Given the description of an element on the screen output the (x, y) to click on. 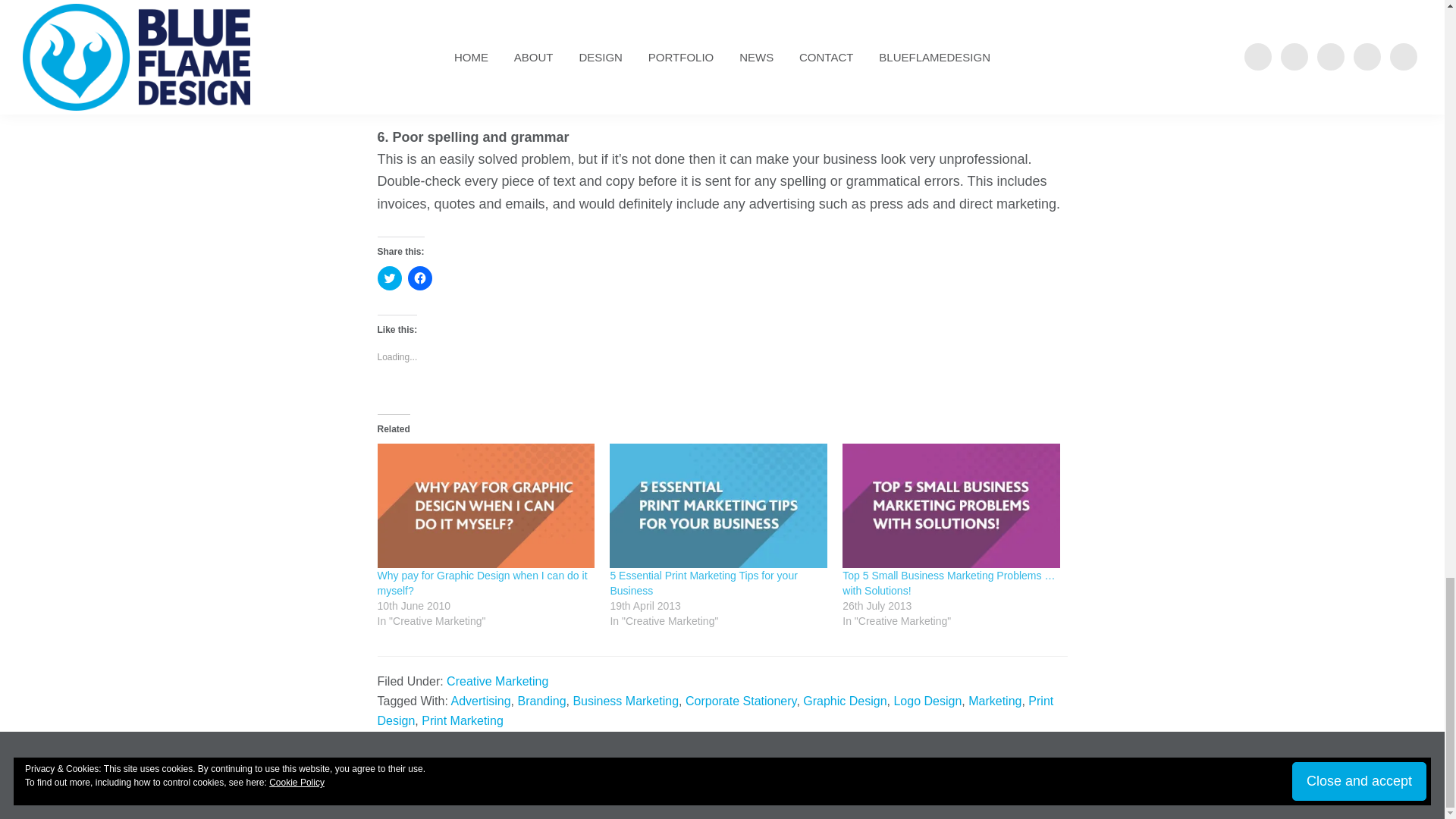
Creative Marketing (497, 680)
Why pay for Graphic Design when I can do it myself? (482, 583)
Graphic Design (844, 700)
Corporate Stationery (740, 700)
branding (530, 93)
Advertising (480, 700)
Click to share on Twitter (389, 278)
Click to share on Facebook (419, 278)
Branding (541, 700)
Business Marketing (625, 700)
5 Essential Print Marketing Tips for your Business (718, 505)
design (476, 93)
Why pay for Graphic Design when I can do it myself? (482, 583)
5 Essential Print Marketing Tips for your Business (703, 583)
5 Essential Print Marketing Tips for your Business (703, 583)
